Given the description of an element on the screen output the (x, y) to click on. 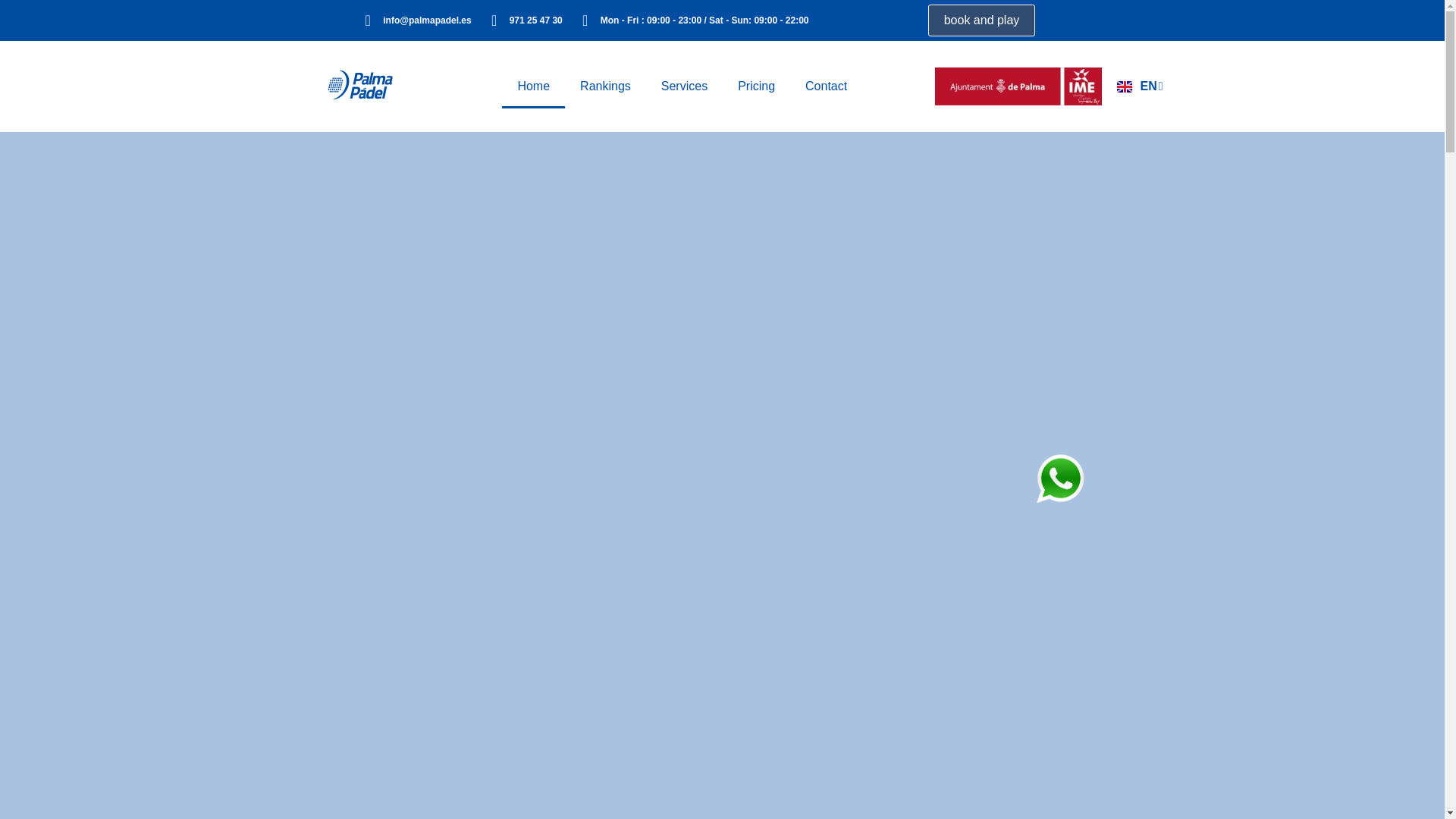
Contact (825, 86)
Home (533, 86)
EN (1138, 86)
Services (684, 86)
Rankings (605, 86)
Pricing (756, 86)
971 25 47 30 (535, 20)
book and play (981, 20)
